Given the description of an element on the screen output the (x, y) to click on. 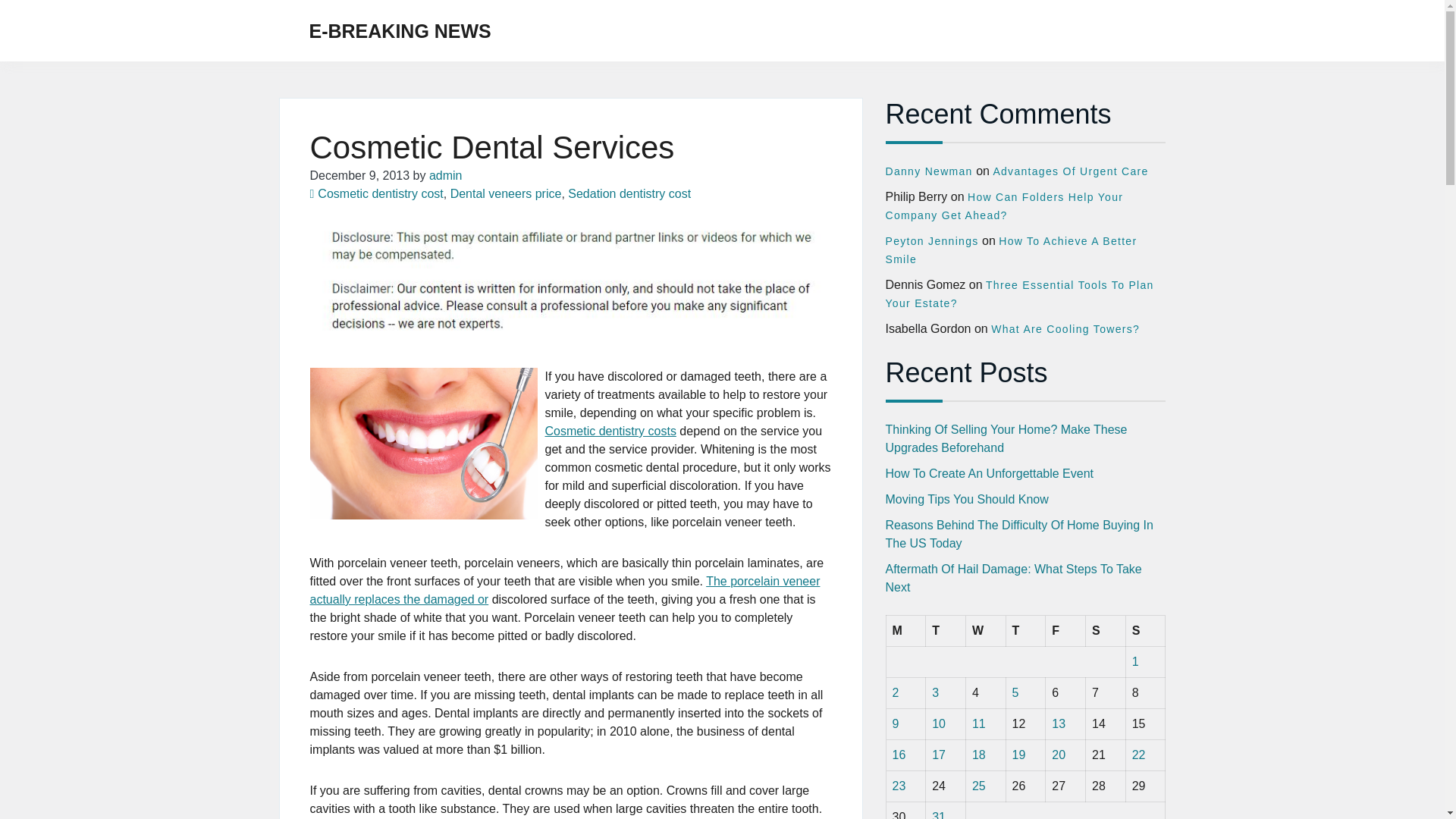
Monday (905, 631)
Danny Newman (928, 171)
Thursday (1025, 631)
Three Essential Tools To Plan Your Estate? (1019, 294)
Sunday (1145, 631)
How To Create An Unforgettable Event (989, 472)
10 (937, 723)
Tuesday (946, 631)
How Can Folders Help Your Company Get Ahead? (1004, 205)
Reasons Behind The Difficulty Of Home Buying In The US Today (1019, 533)
Friday (1065, 631)
19 (1018, 754)
What Are Cooling Towers? (1065, 328)
Dental veneers price (505, 193)
Find more (563, 590)
